Given the description of an element on the screen output the (x, y) to click on. 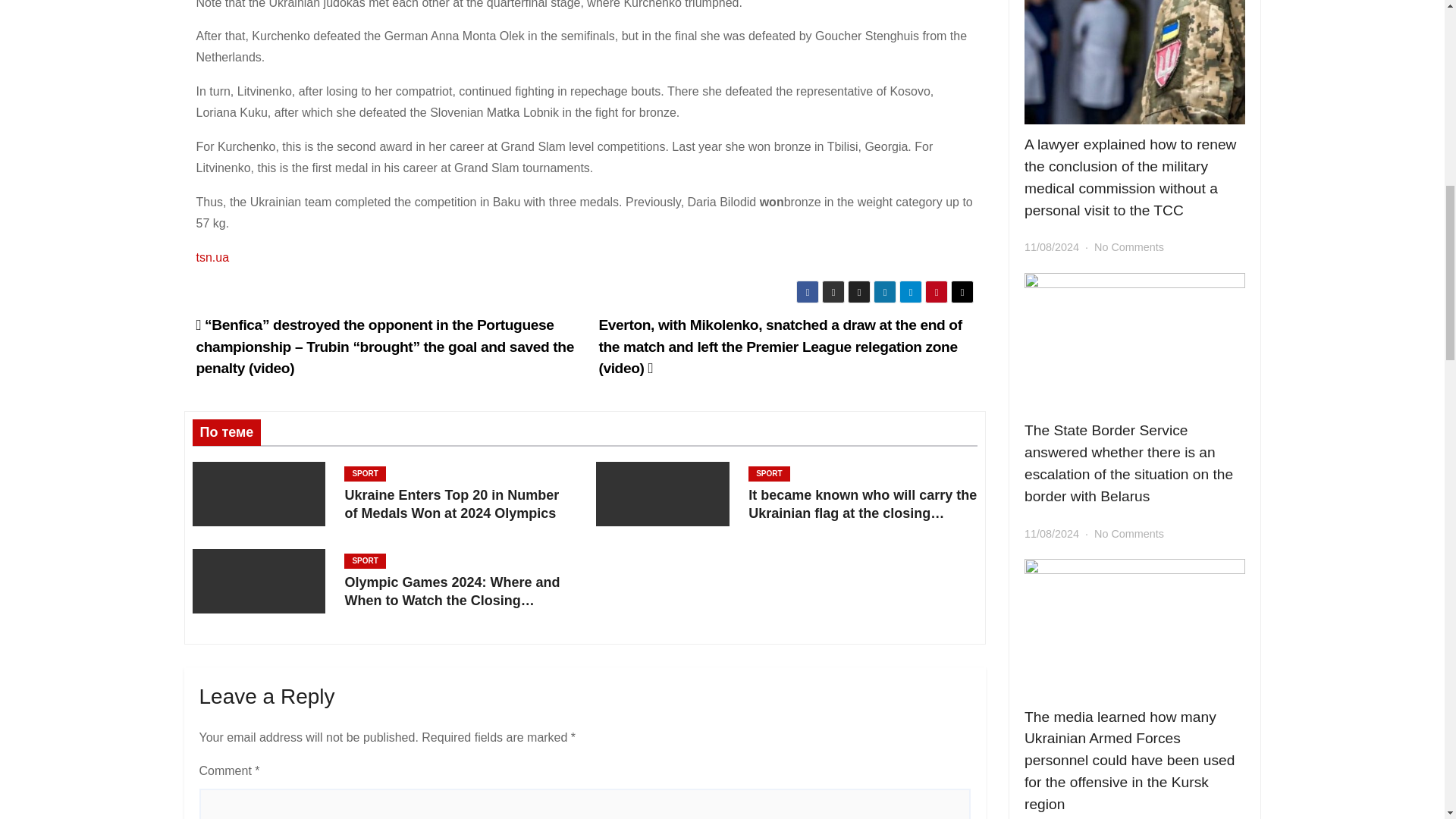
tsn.ua (211, 256)
